Given the description of an element on the screen output the (x, y) to click on. 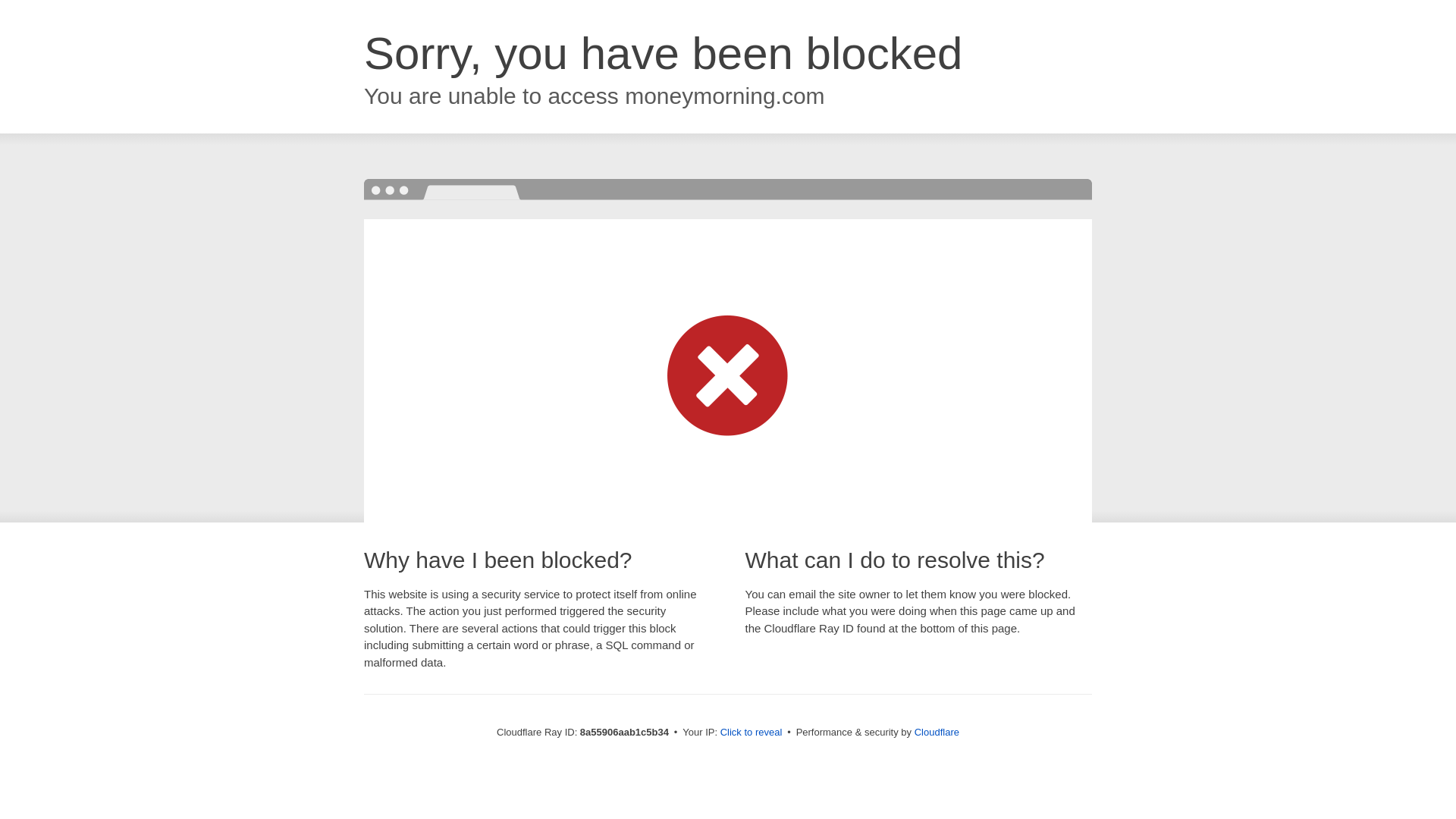
Cloudflare (936, 731)
Click to reveal (751, 732)
